Given the description of an element on the screen output the (x, y) to click on. 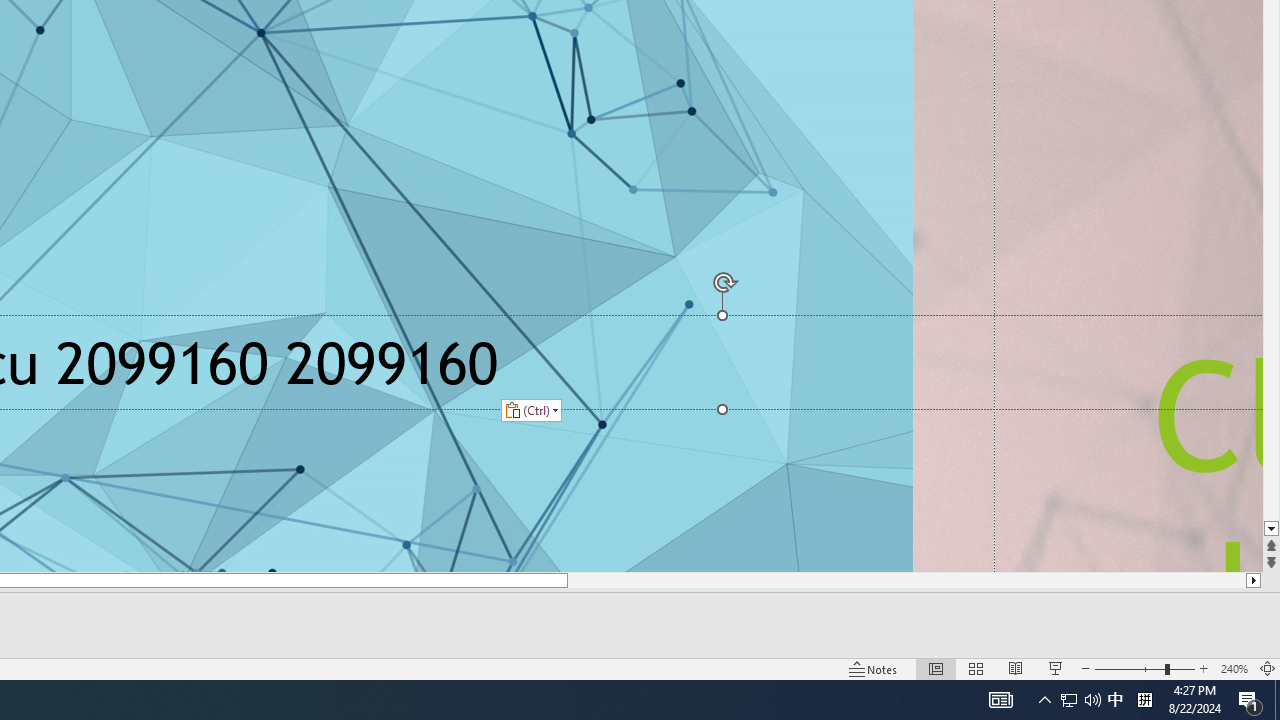
Action: Paste alternatives (530, 409)
Zoom 240% (1234, 668)
